Given the description of an element on the screen output the (x, y) to click on. 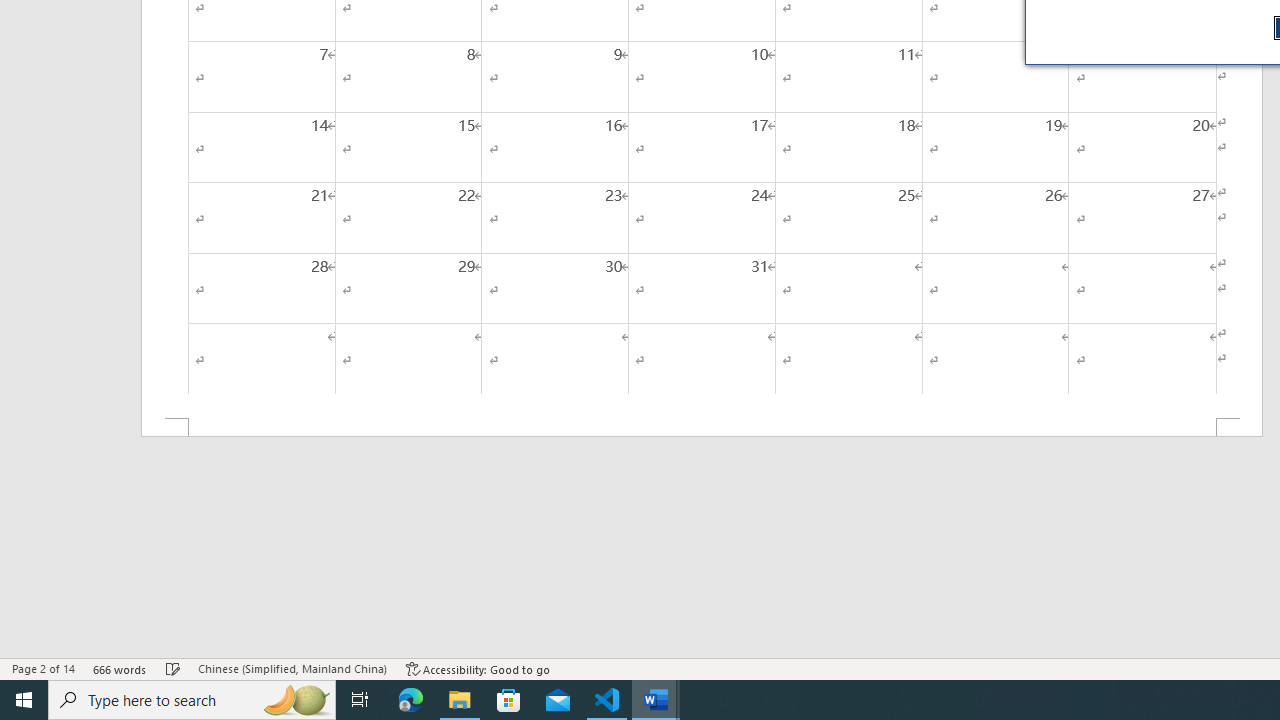
Microsoft Edge (411, 699)
